Given the description of an element on the screen output the (x, y) to click on. 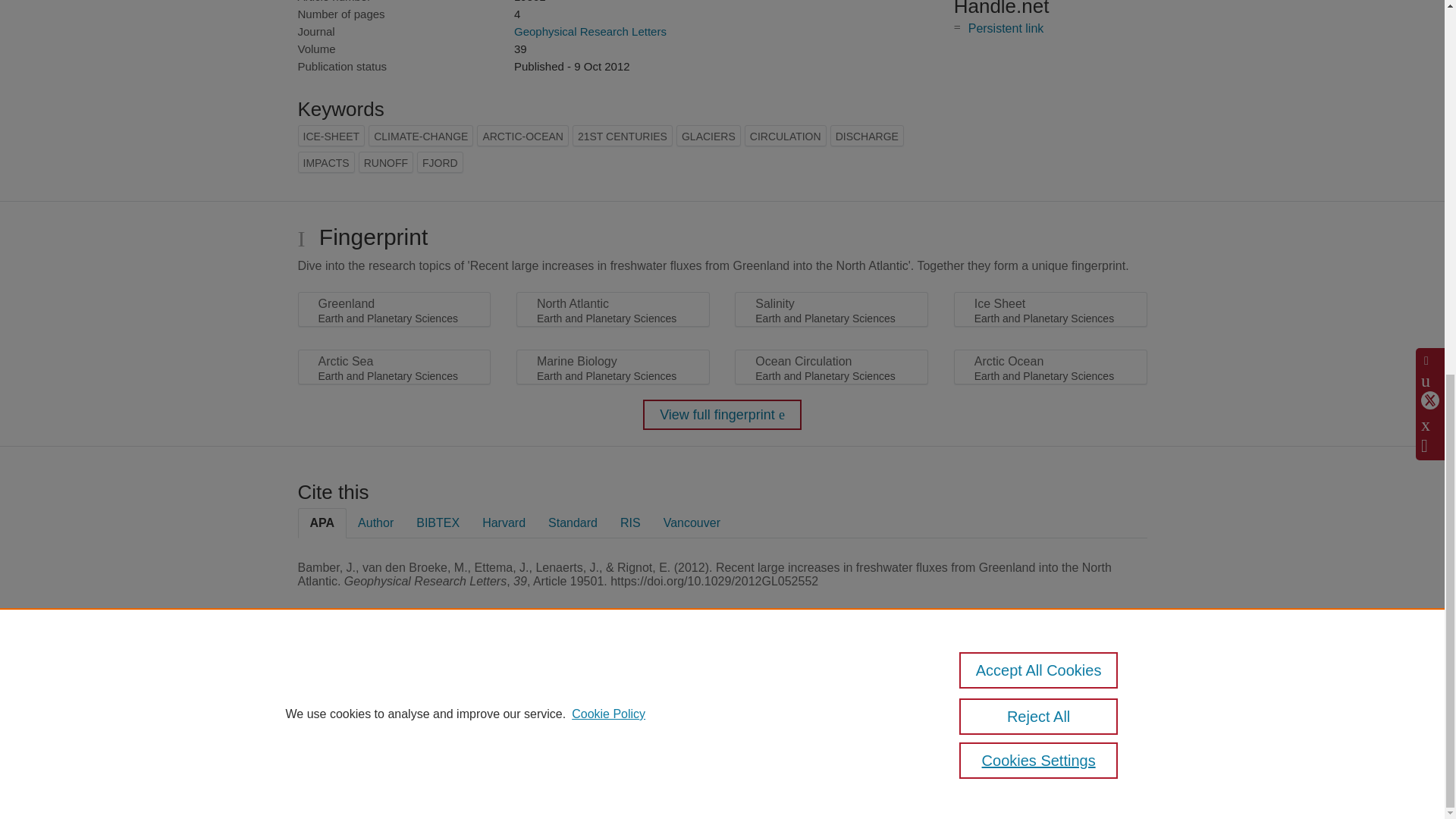
Persistent link (1005, 28)
View full fingerprint (722, 414)
Geophysical Research Letters (589, 31)
